Given the description of an element on the screen output the (x, y) to click on. 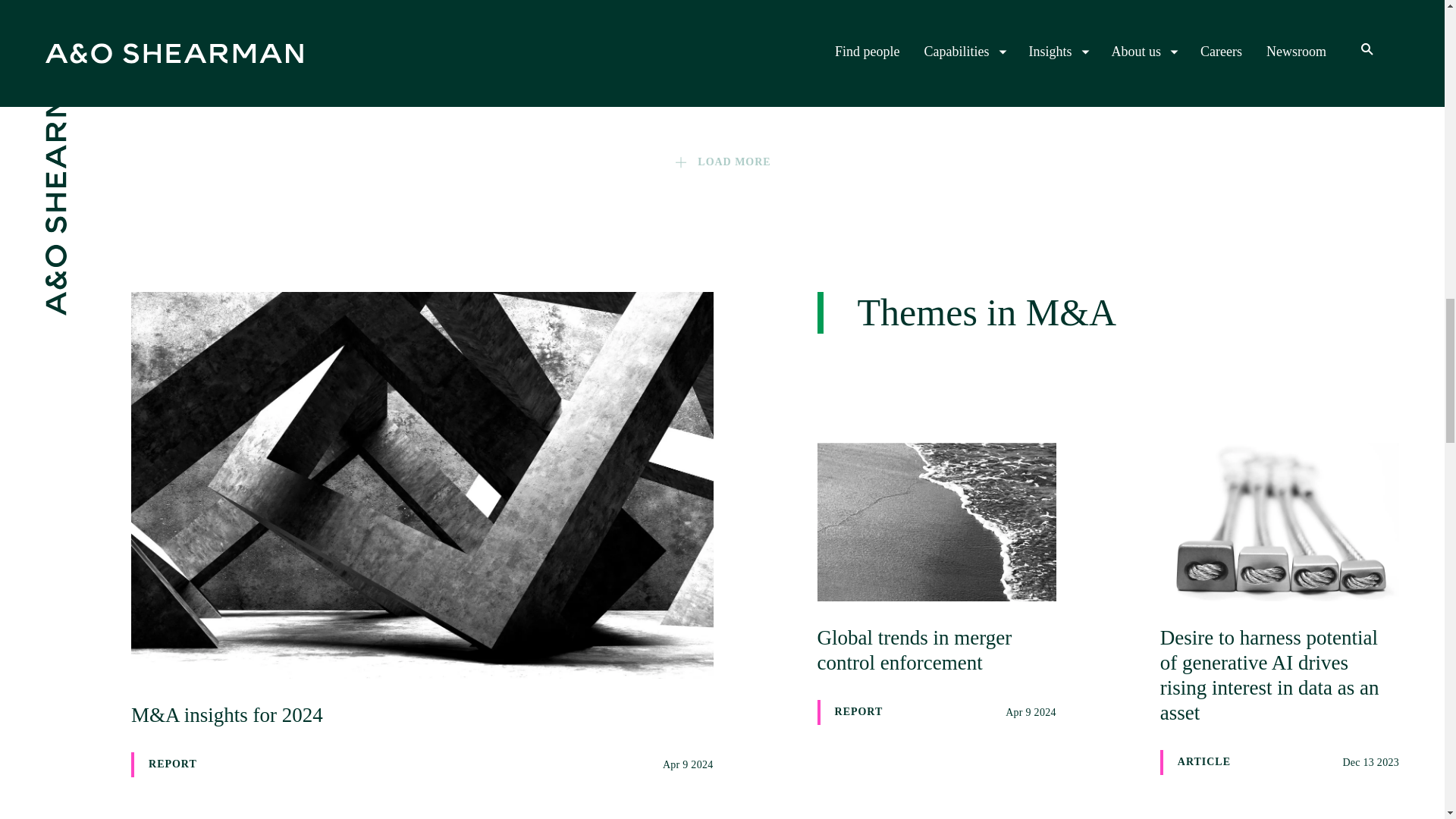
LOAD MORE (721, 22)
